Given the description of an element on the screen output the (x, y) to click on. 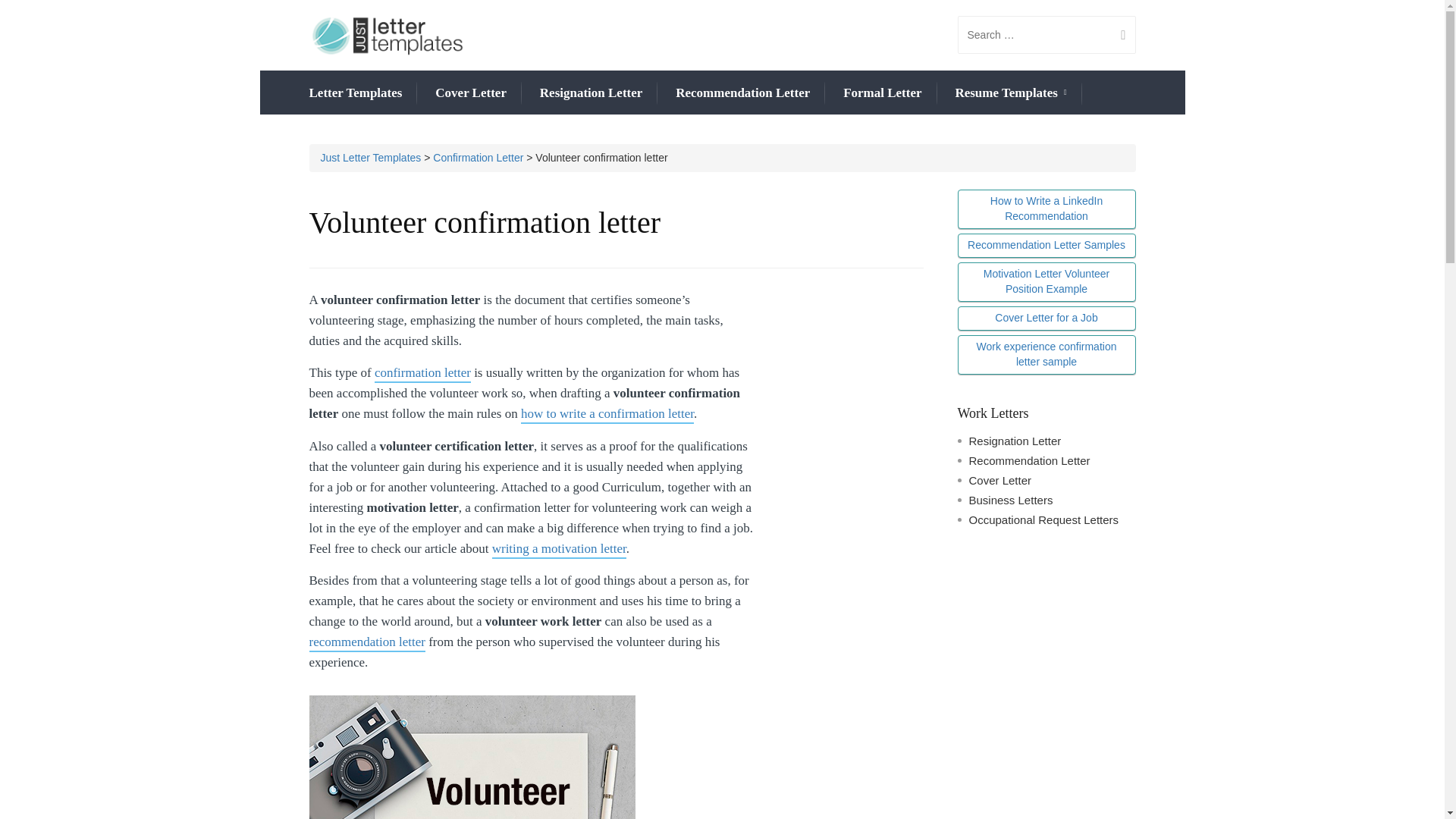
how to write a confirmation letter (607, 415)
Go to the Confirmation Letter Category archives. (477, 157)
Search (1117, 34)
Just Letter Templates (370, 157)
Cover Letter (470, 92)
Recommendation Letter (742, 92)
Confirmation Letter (477, 157)
writing a motivation letter (559, 549)
Search (1117, 34)
Go to Just Letter Templates. (370, 157)
